Given the description of an element on the screen output the (x, y) to click on. 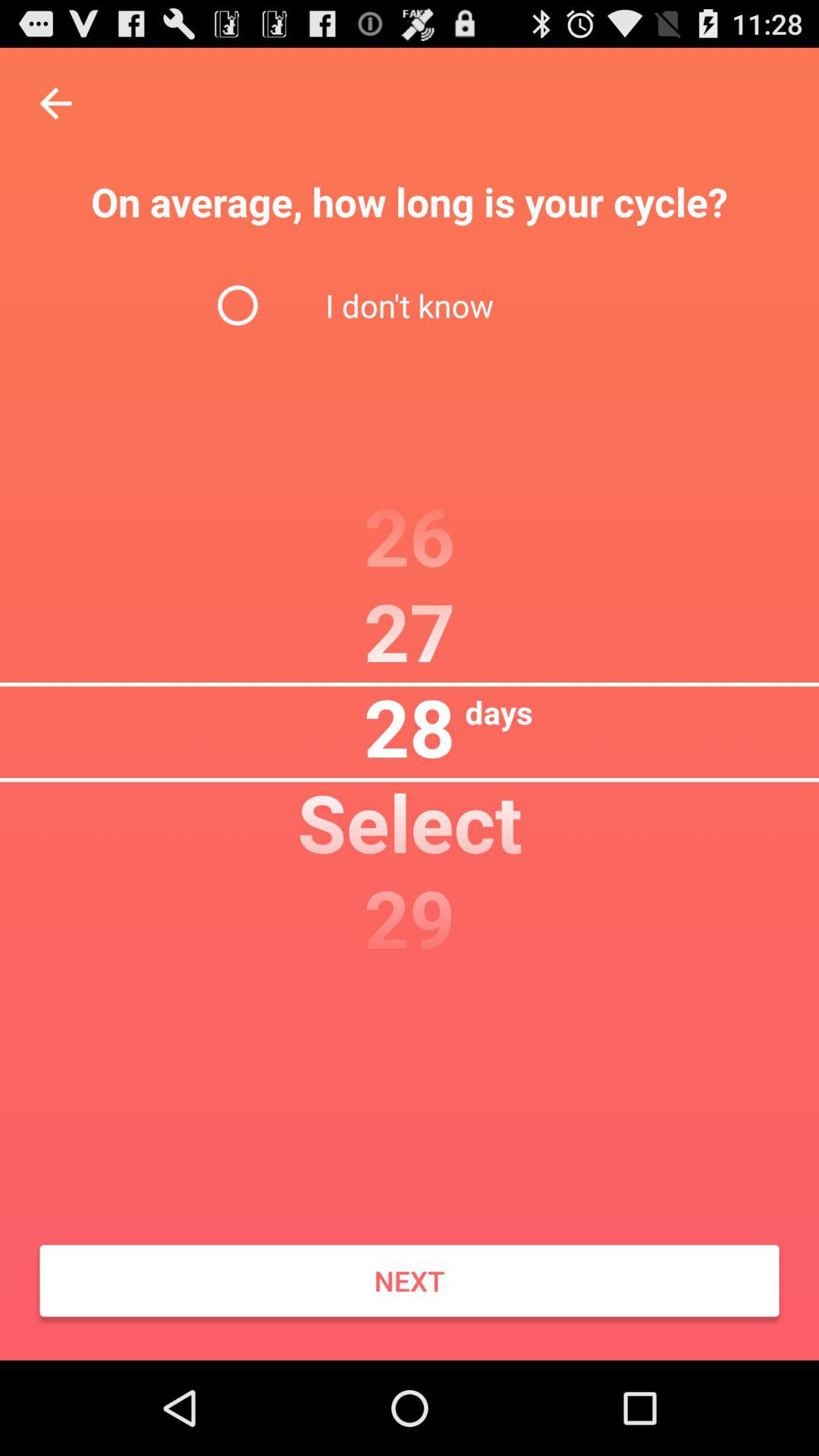
tap the item above the on average how item (55, 103)
